Given the description of an element on the screen output the (x, y) to click on. 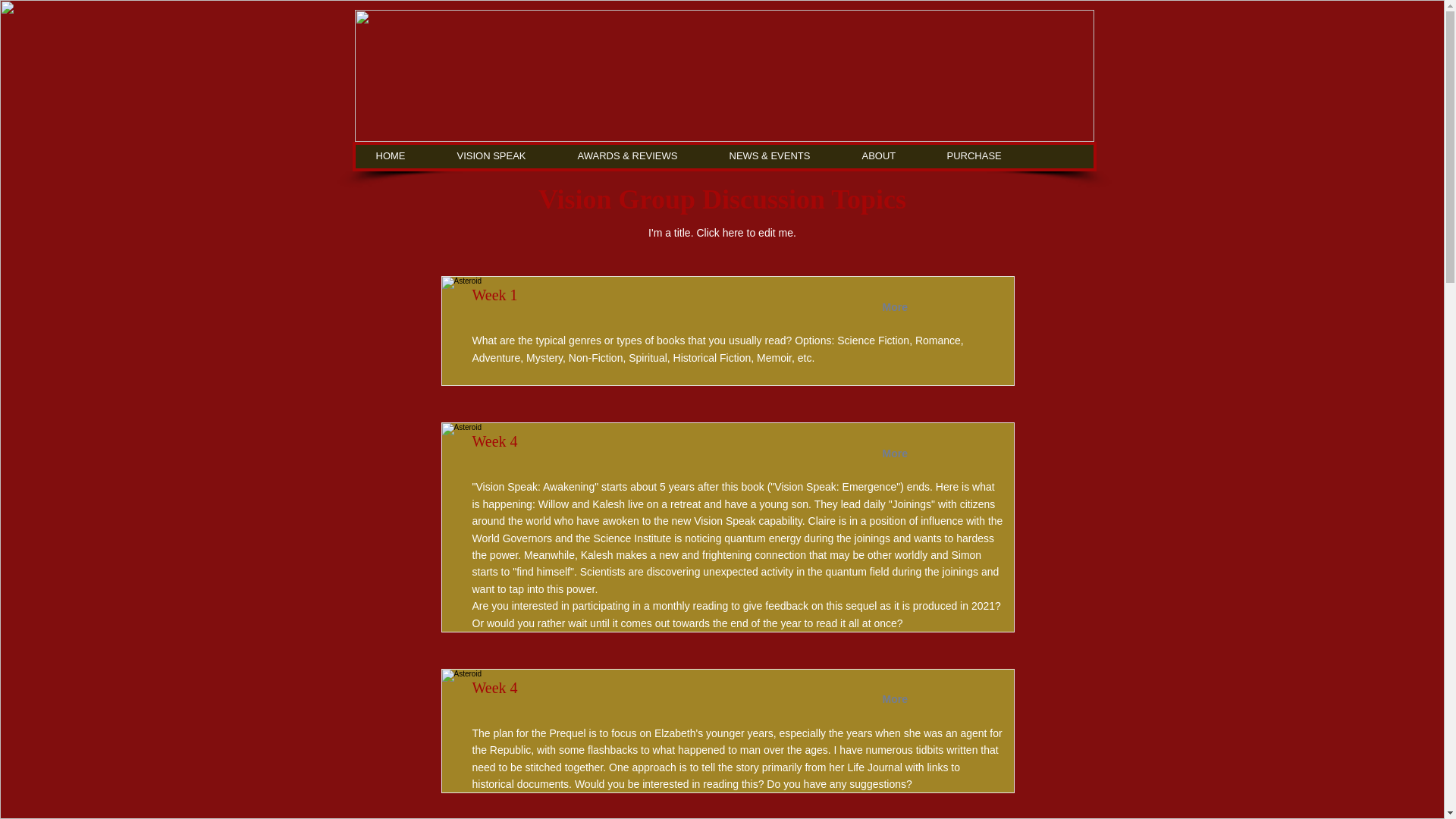
PURCHASE (991, 155)
HOME (407, 155)
